Given the description of an element on the screen output the (x, y) to click on. 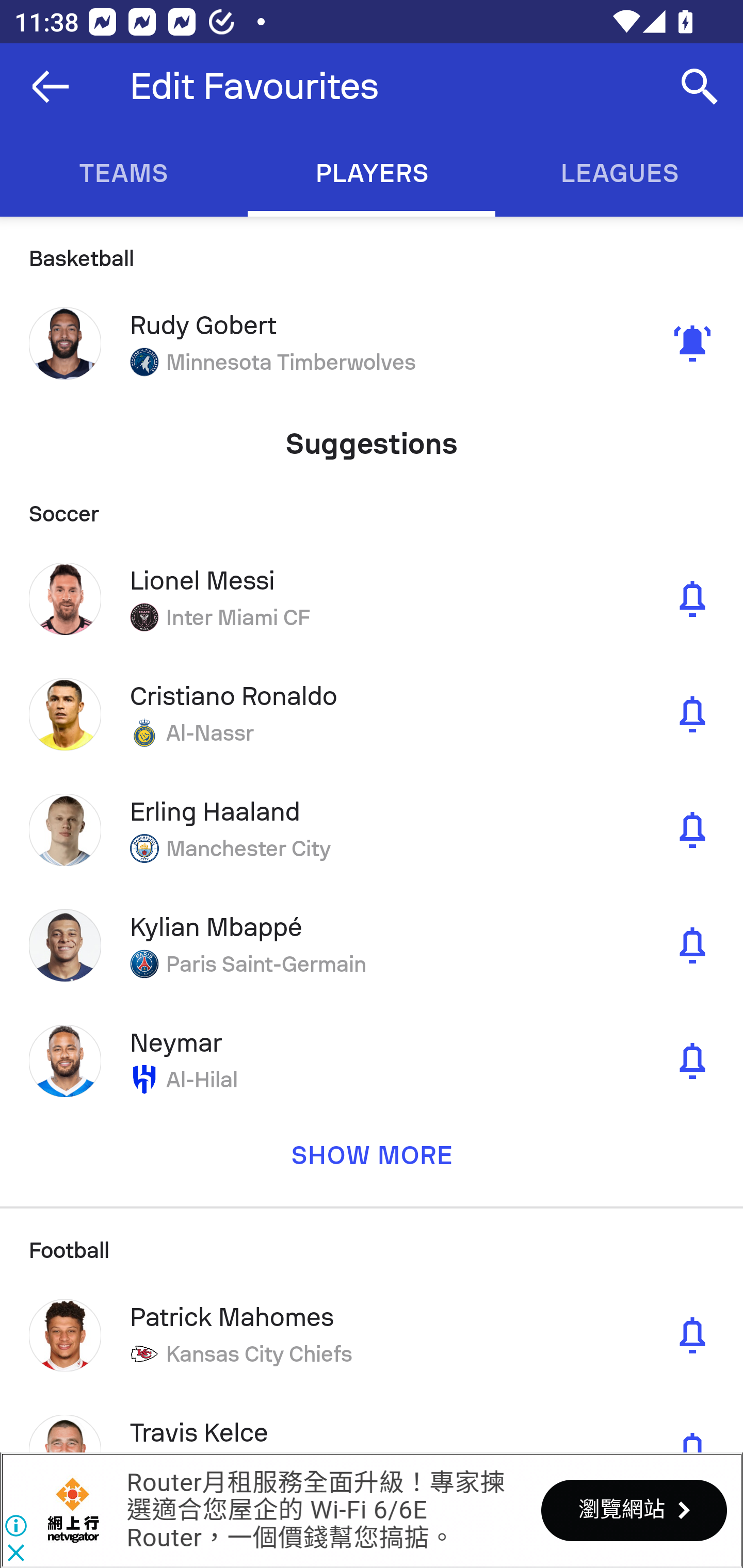
Navigate up (50, 86)
Search (699, 86)
Teams TEAMS (123, 173)
Leagues LEAGUES (619, 173)
Basketball (371, 250)
Rudy Gobert Minnesota Timberwolves (371, 343)
Suggestions (371, 436)
Soccer (371, 505)
Lionel Messi Inter Miami CF (371, 598)
Cristiano Ronaldo Al-Nassr (371, 713)
Erling Haaland Manchester City (371, 829)
Kylian Mbappé Paris Saint-Germain (371, 945)
Neymar Al-Hilal (371, 1060)
SHOW MORE (371, 1161)
Football (371, 1241)
Patrick Mahomes Kansas City Chiefs (371, 1334)
網上行 Netvigator (73, 1510)
瀏覽網站 (634, 1509)
